Given the description of an element on the screen output the (x, y) to click on. 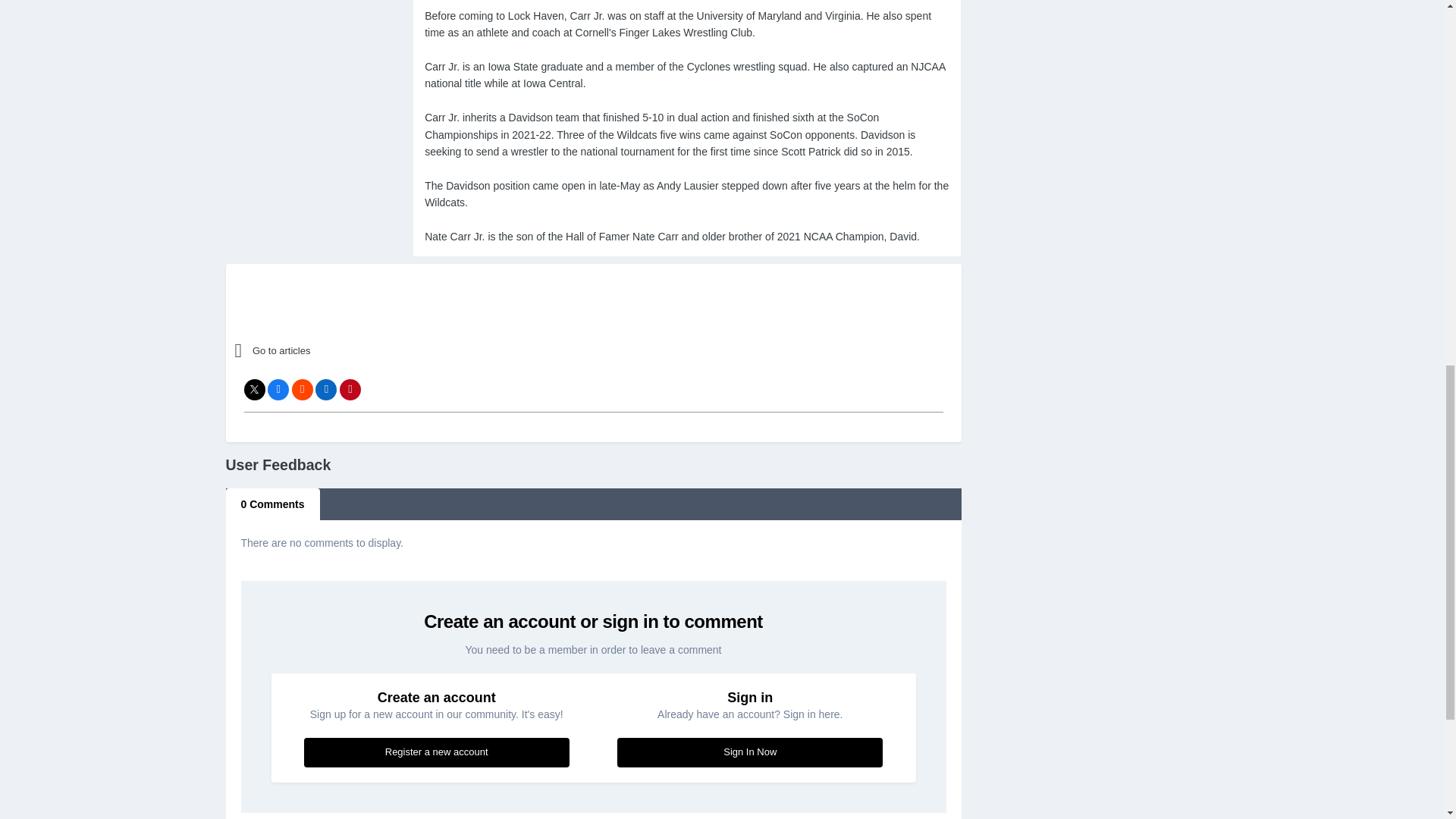
Share on X (254, 389)
Share on LinkedIn (325, 389)
Share on Facebook (277, 389)
Go to College (367, 351)
Share on Pinterest (350, 389)
Share on Reddit (302, 389)
0 Comments (272, 504)
